Given the description of an element on the screen output the (x, y) to click on. 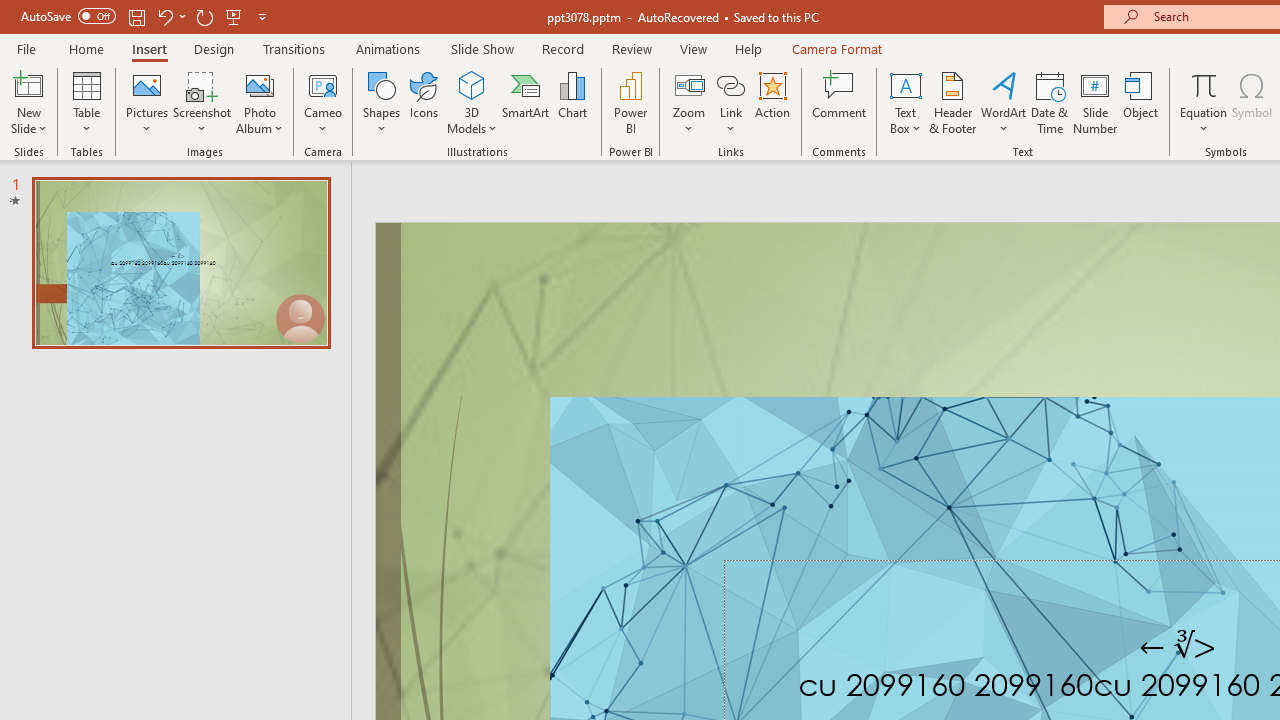
3D Models (472, 102)
Date & Time... (1050, 102)
Photo Album... (259, 102)
Comment (839, 102)
Slide Number (1095, 102)
